Given the description of an element on the screen output the (x, y) to click on. 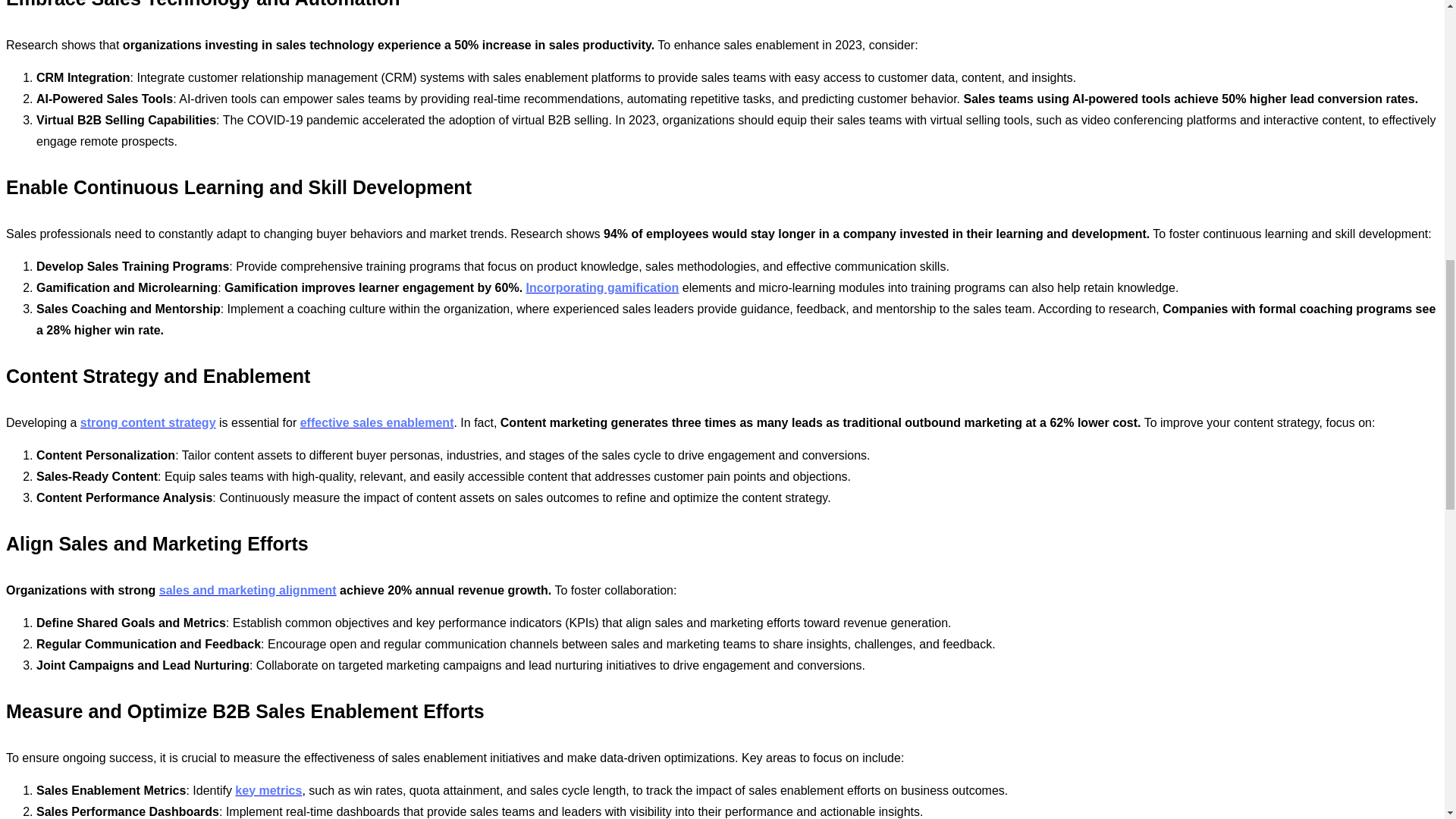
strong content strategy (147, 421)
key metrics (267, 789)
Incorporating gamification (602, 286)
sales and marketing alignment (247, 590)
effective sales enablement (376, 421)
